Given the description of an element on the screen output the (x, y) to click on. 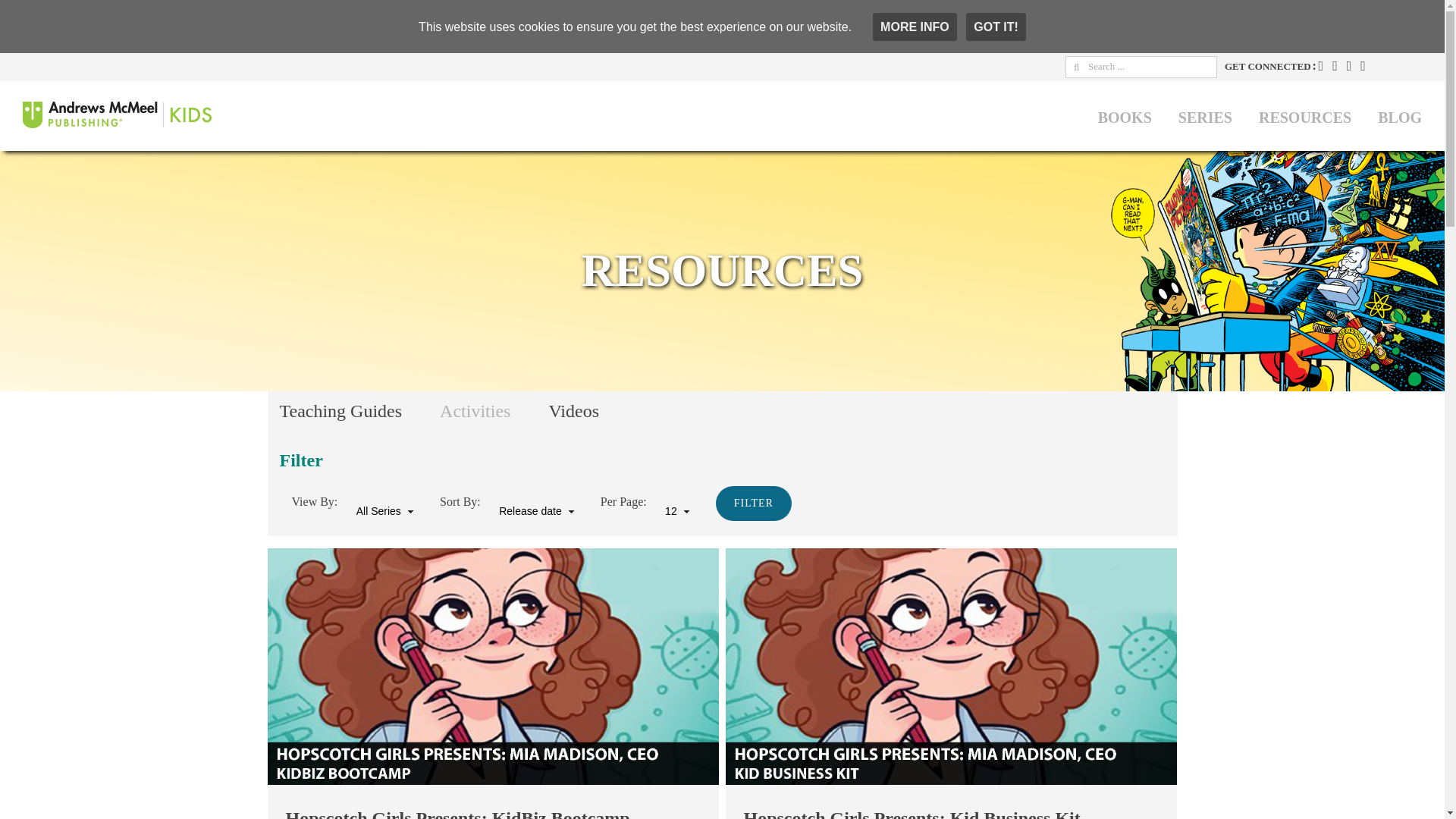
Filter (754, 503)
Filter (754, 503)
MORE INFO (914, 26)
Facebook (1321, 65)
Instagram (1349, 65)
Twitter (1335, 65)
Facebook (1321, 65)
GOT IT! (996, 26)
RESOURCES (1305, 115)
Activities (493, 410)
BLOG (1399, 115)
Instagram (1349, 65)
Teaching Guides (359, 410)
